Given the description of an element on the screen output the (x, y) to click on. 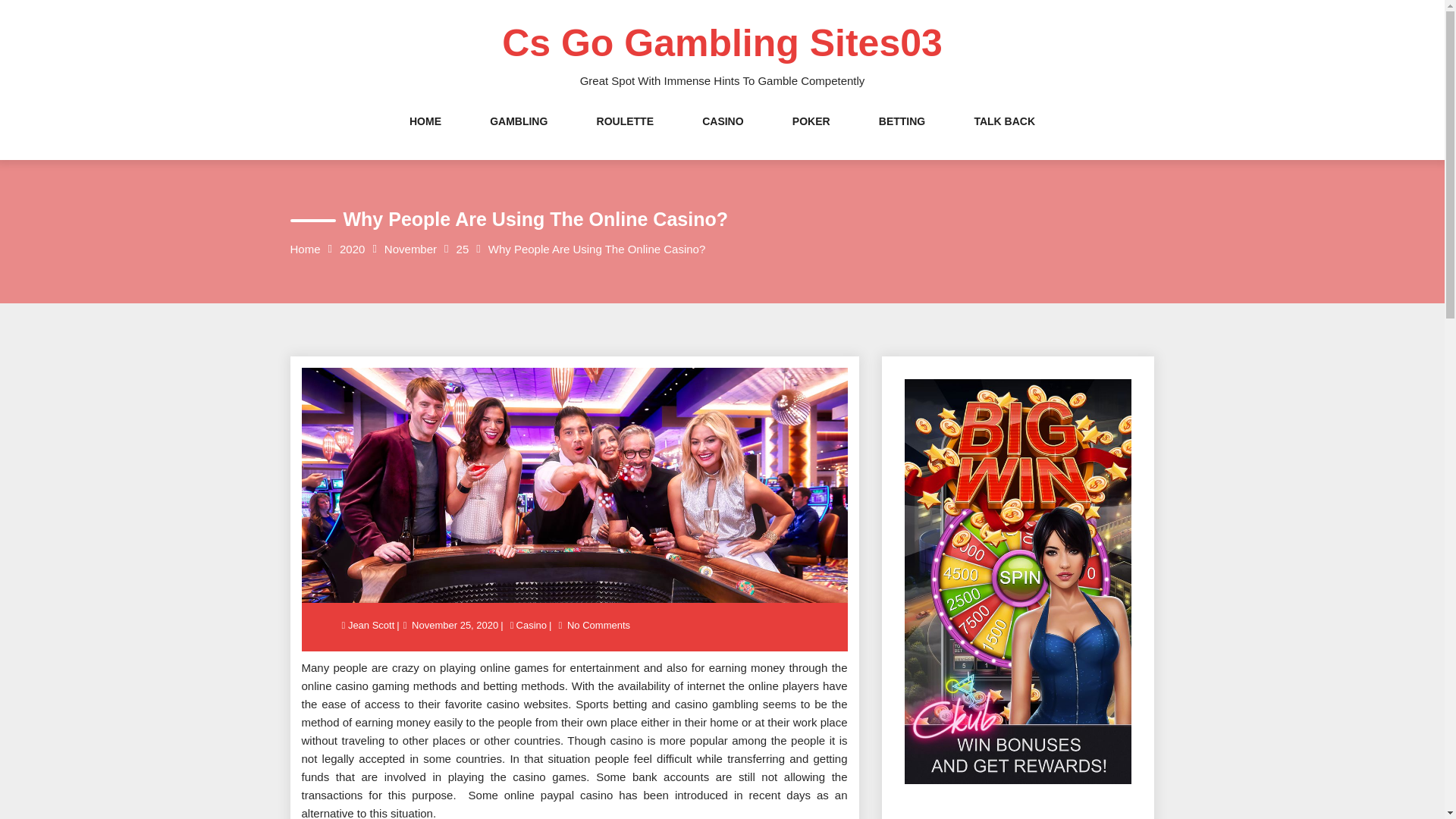
TALK BACK (1004, 136)
2020 (352, 248)
GAMBLING (518, 136)
CASINO (721, 136)
Jean Scott (371, 624)
25 (462, 248)
ROULETTE (624, 136)
November (410, 248)
November 25, 2020 (454, 624)
BETTING (901, 136)
No Comments (597, 624)
Home (304, 248)
Casino (530, 624)
Cs Go Gambling Sites03 (722, 43)
